Given the description of an element on the screen output the (x, y) to click on. 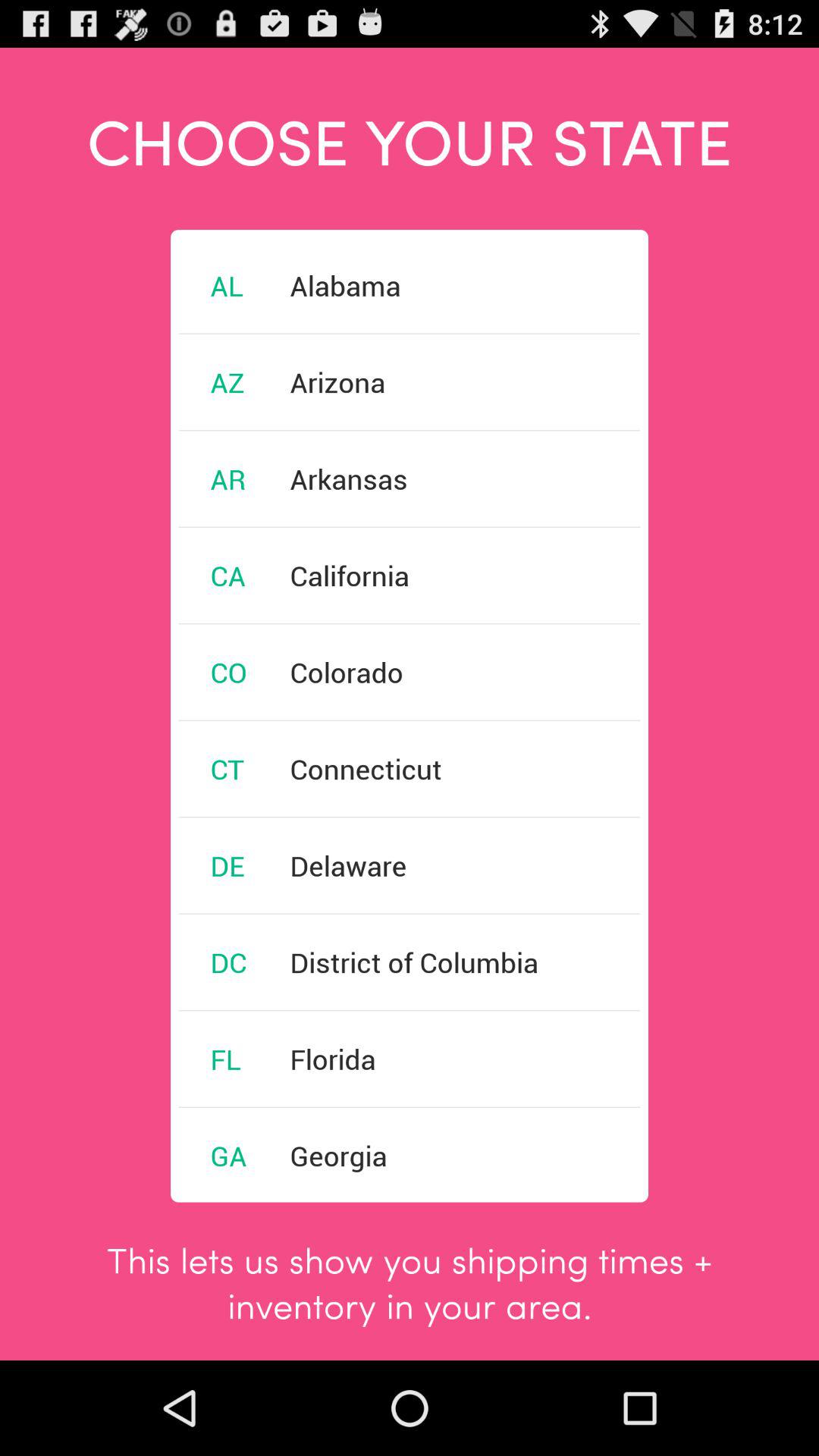
launch de (227, 865)
